Given the description of an element on the screen output the (x, y) to click on. 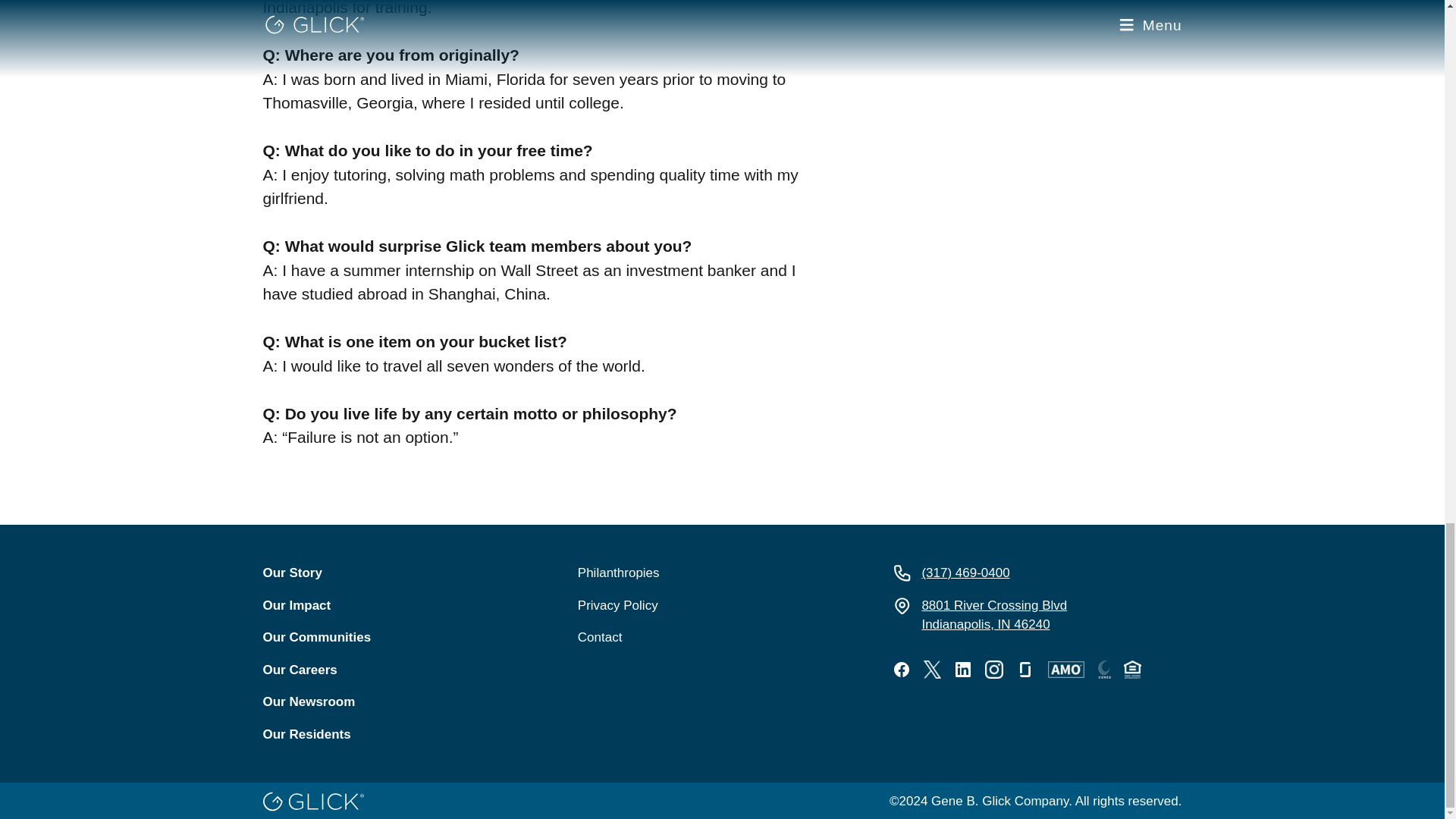
Our Impact (406, 605)
Our Story (406, 573)
Our Communities (406, 637)
Our Newsroom (406, 701)
Our Residents (406, 734)
Our Careers (406, 670)
Contact (722, 637)
Philanthropies (722, 573)
Privacy Policy (1036, 615)
